Given the description of an element on the screen output the (x, y) to click on. 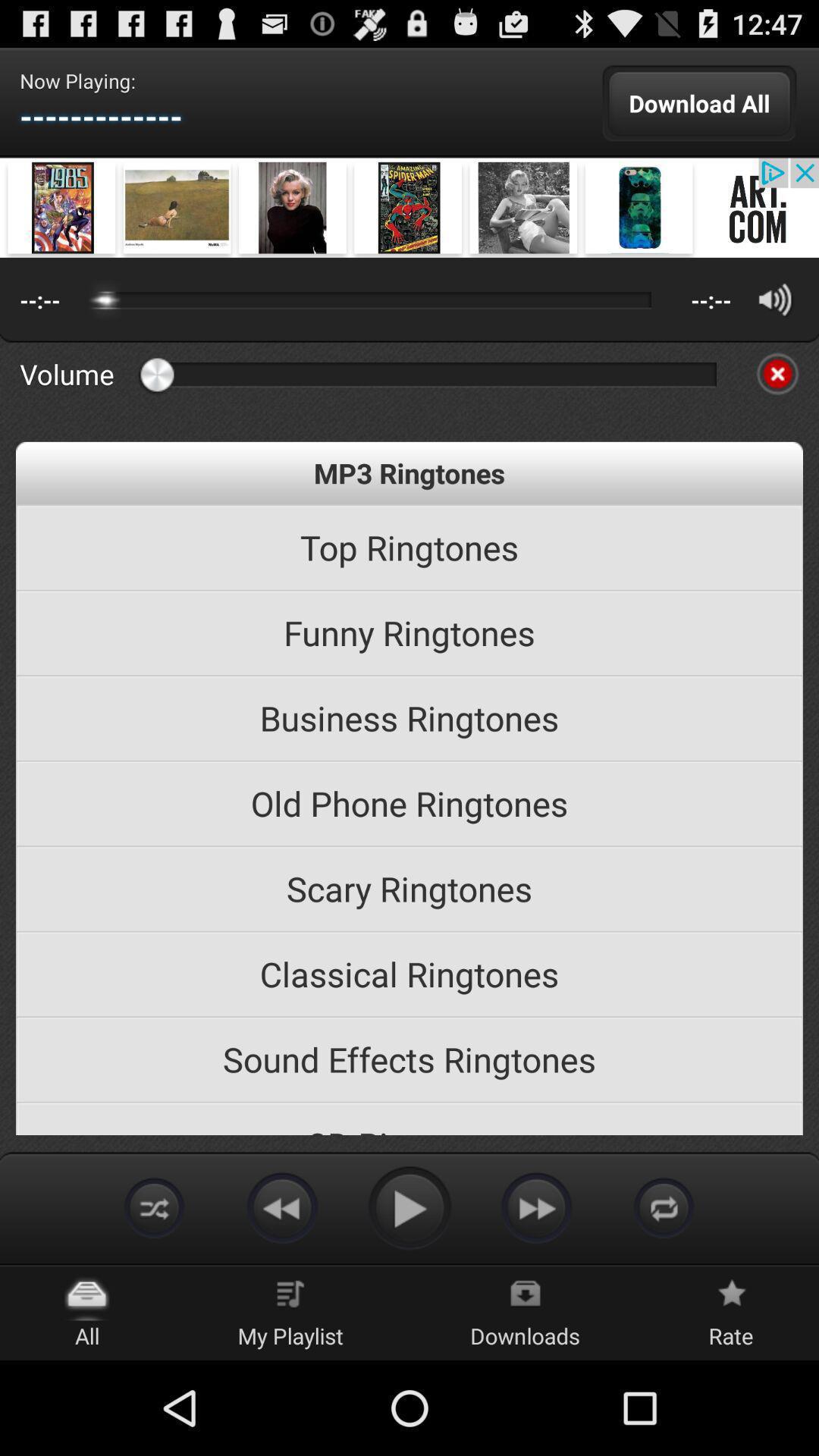
cancel button (777, 373)
